Given the description of an element on the screen output the (x, y) to click on. 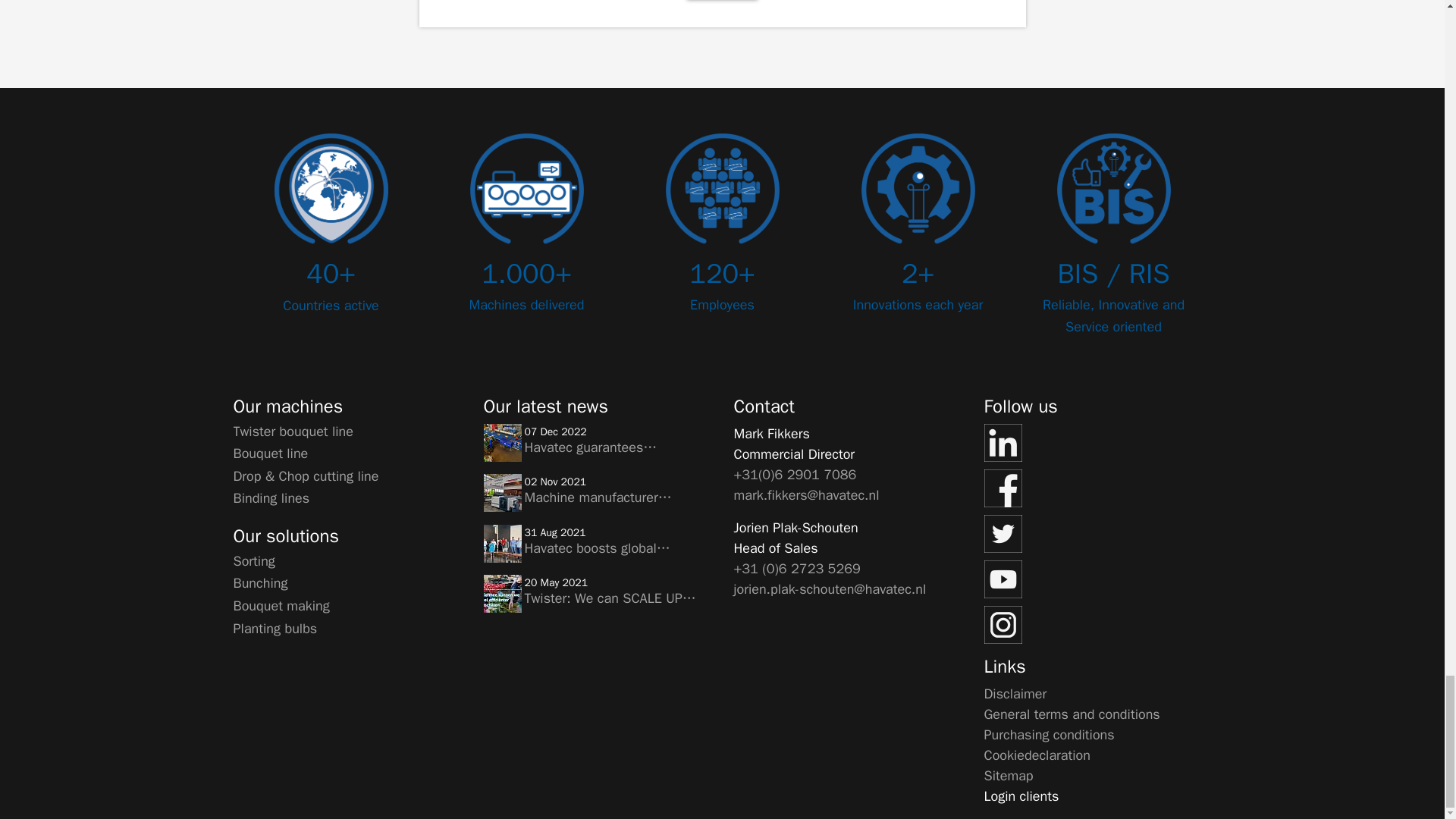
Disclaimer (1015, 693)
Havatec op Facebook (1097, 487)
Machine manufacturer presents several novelties at IFTF (502, 492)
Bouquet making (281, 605)
Cookiedeclaration (1037, 754)
Planting bulbs (274, 628)
Twister bouquet line (292, 431)
Purchasing conditions (1049, 734)
Havatec op YouTube (1097, 579)
Havatec op Twitter (1097, 533)
Havatec op Linkedin (1097, 442)
Bouquet line (270, 453)
Havatec op Instagram (1097, 624)
Bunching (260, 582)
